Given the description of an element on the screen output the (x, y) to click on. 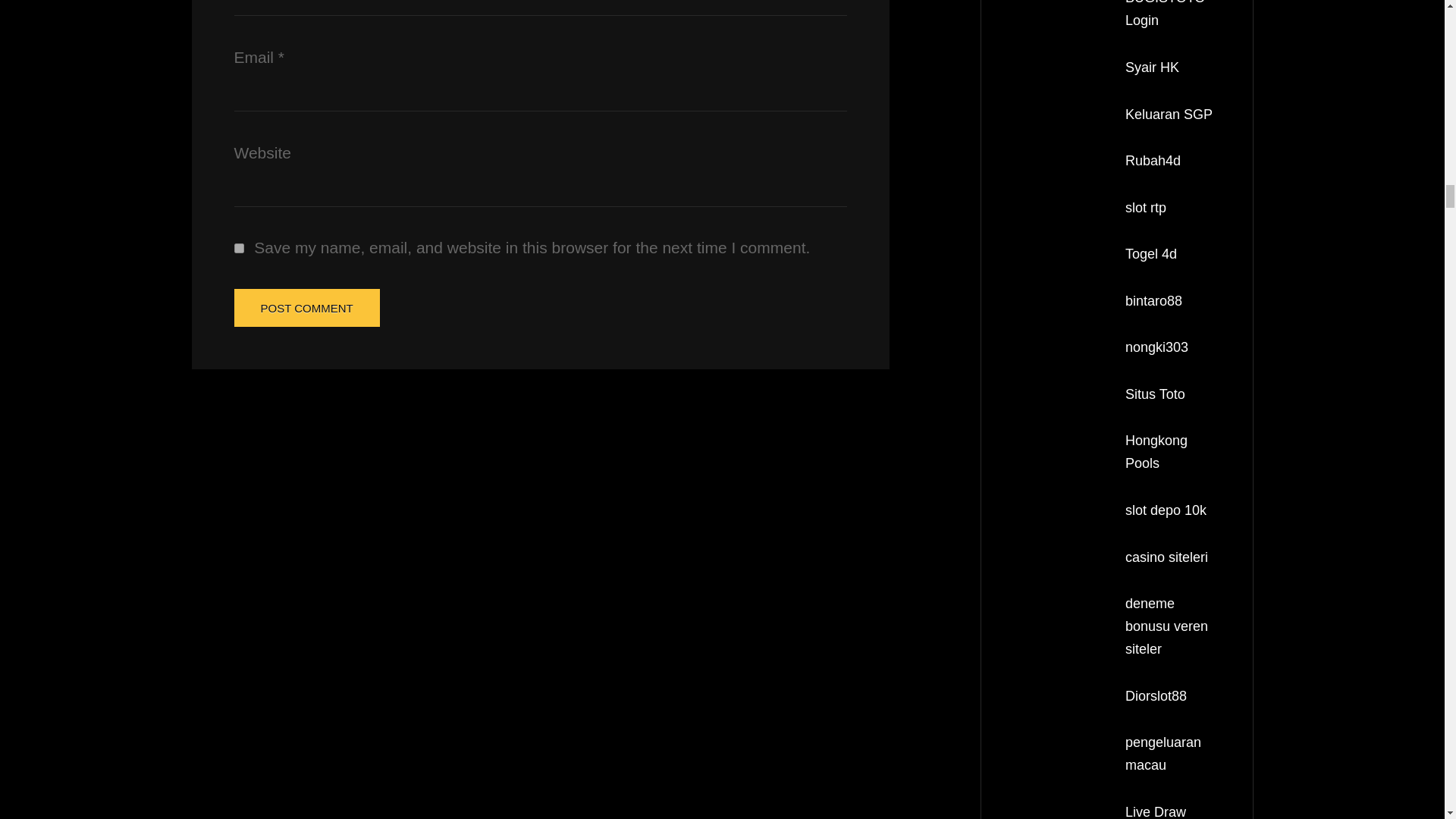
Post Comment (305, 307)
Post Comment (305, 307)
yes (237, 248)
